Given the description of an element on the screen output the (x, y) to click on. 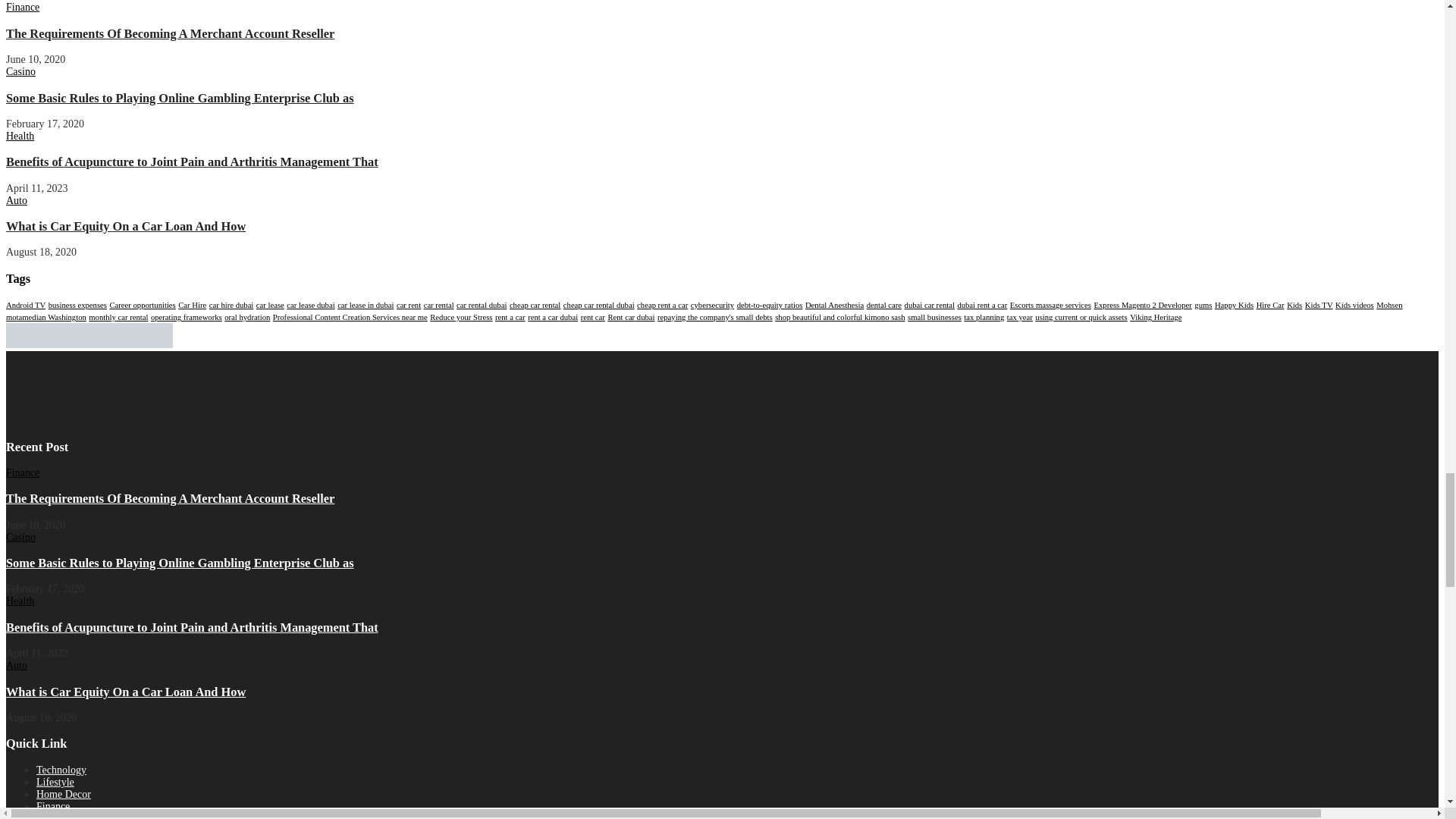
The Requirements Of Becoming A Merchant Account Reseller (169, 33)
The Requirements Of Becoming A Merchant Account Reseller (169, 498)
What is Car Equity On a Car Loan And How Can You Use It? (125, 226)
What is Car Equity On a Car Loan And How Can You Use It? (125, 691)
